Given the description of an element on the screen output the (x, y) to click on. 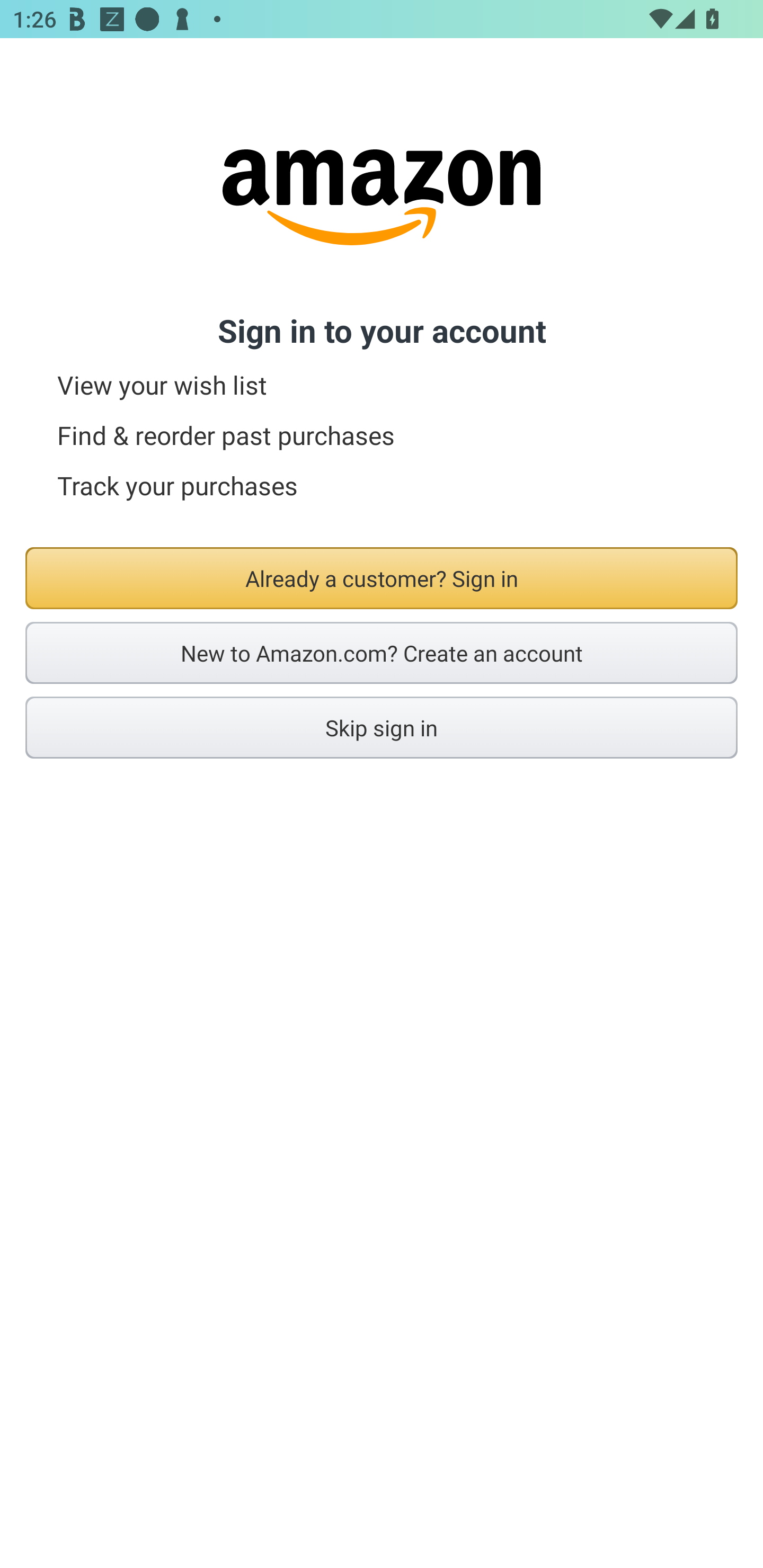
Already a customer? Sign in (381, 578)
New to Amazon.com? Create an account (381, 652)
Skip sign in (381, 727)
